Given the description of an element on the screen output the (x, y) to click on. 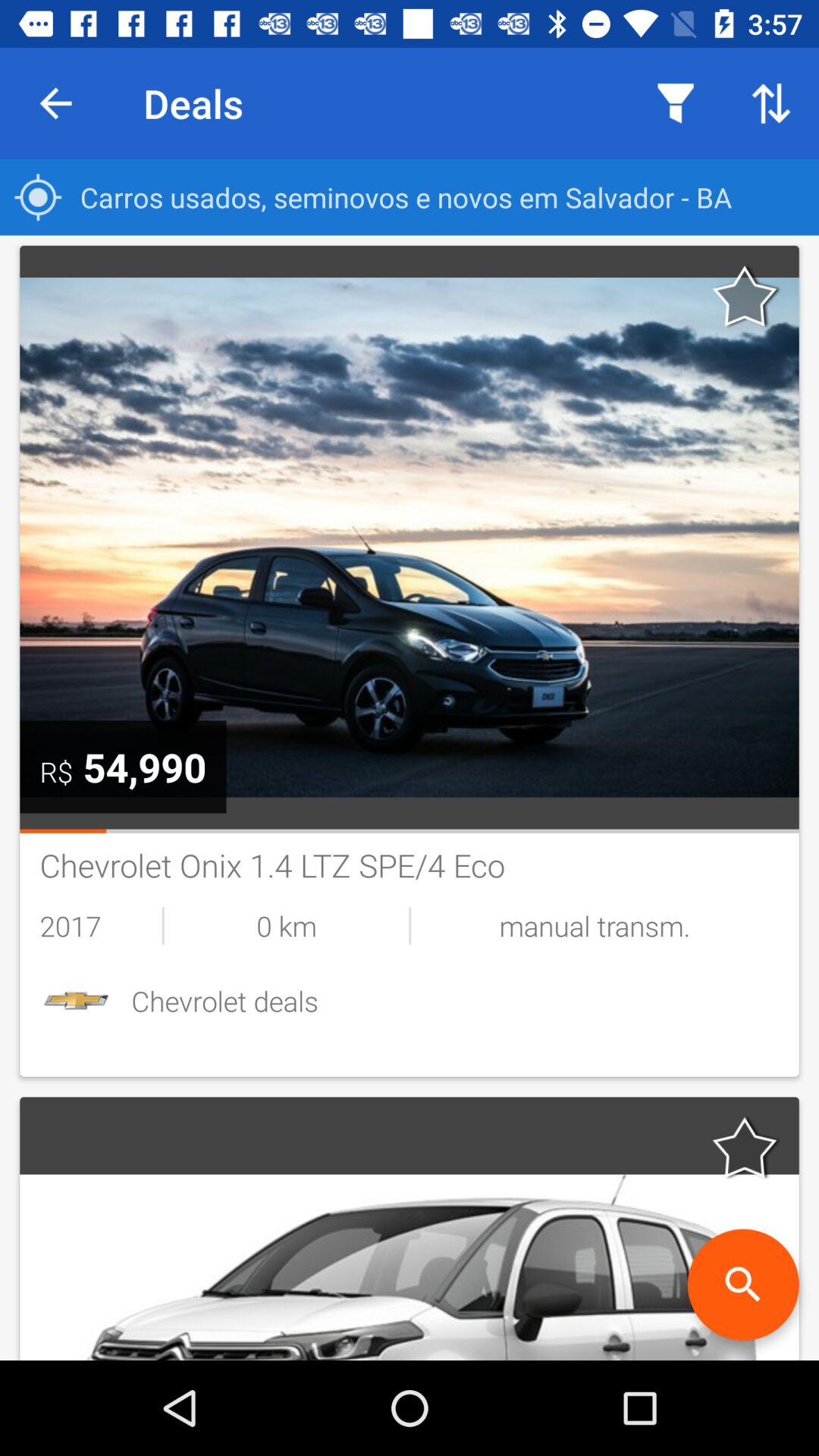
open item to the right of deals icon (675, 103)
